Given the description of an element on the screen output the (x, y) to click on. 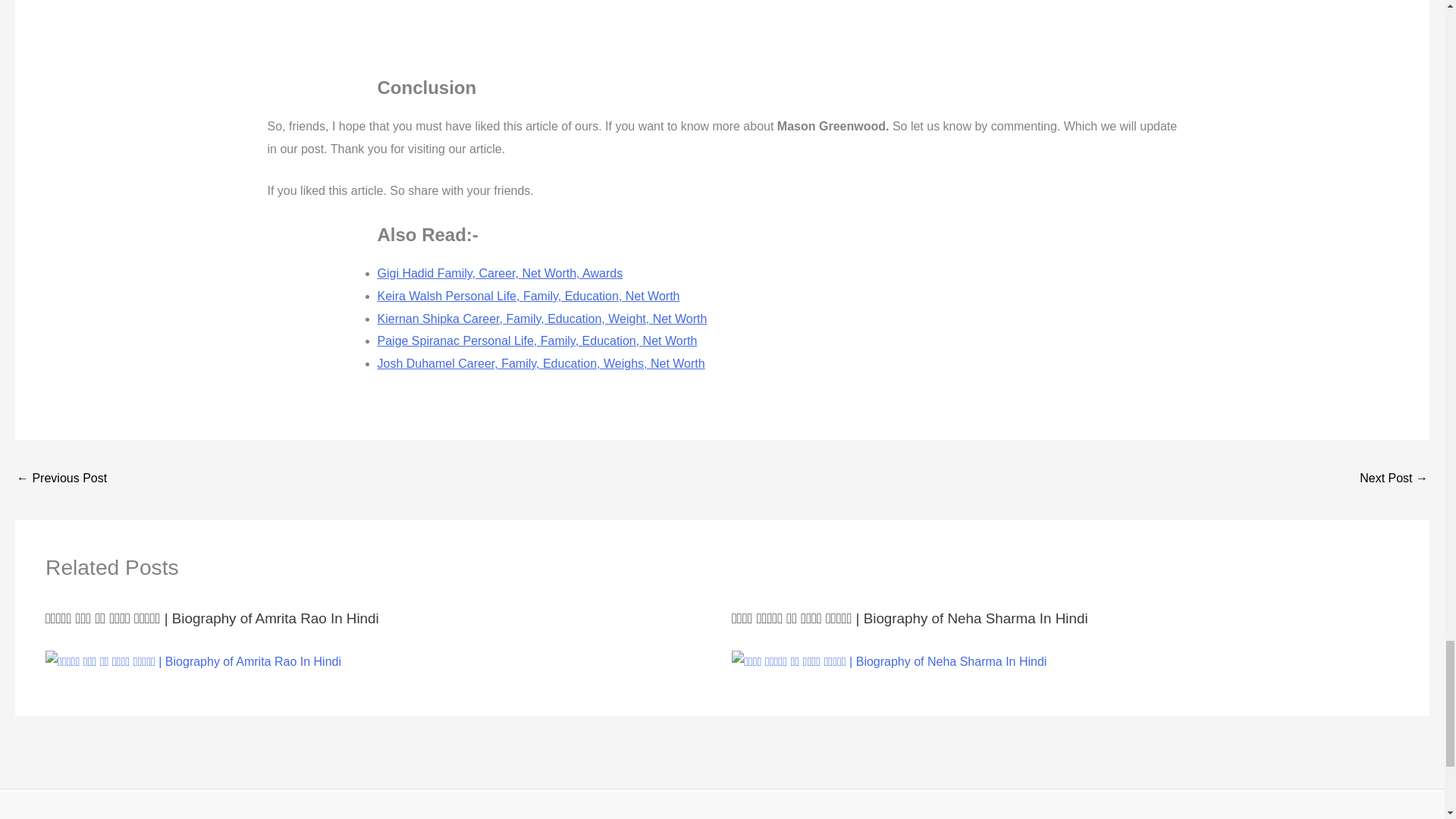
Mason Greenwood - All 35 Goals in Career (722, 31)
Bridget Fonda Career, Family, Education, Net Worth (1393, 479)
Gigi Hadid Family, Career, Net Worth, Awards (61, 479)
